Given the description of an element on the screen output the (x, y) to click on. 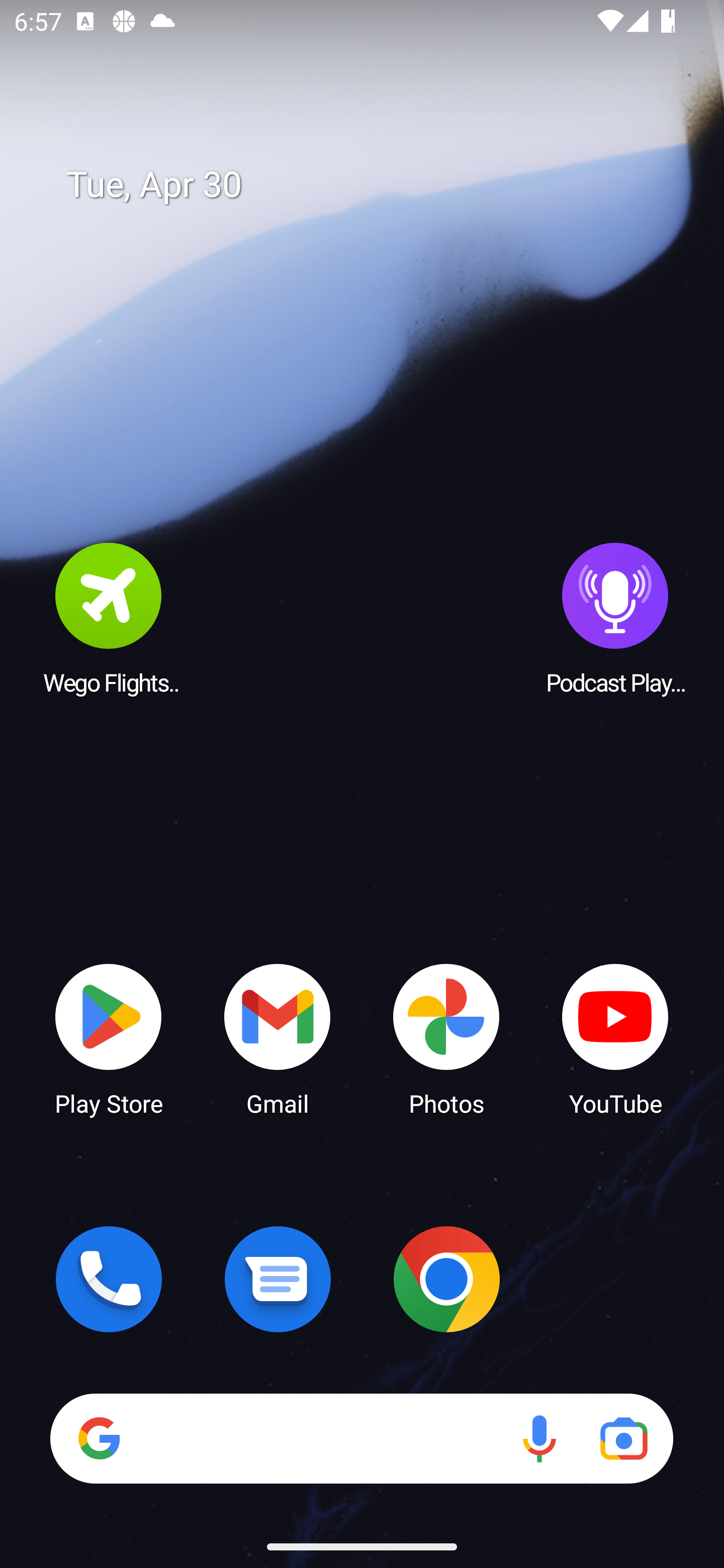
Tue, Apr 30 (375, 184)
Wego Flights & Hotels (108, 617)
Podcast Player (615, 617)
Play Store (108, 1038)
Gmail (277, 1038)
Photos (445, 1038)
YouTube (615, 1038)
Phone (108, 1279)
Messages (277, 1279)
Chrome (446, 1279)
Voice search (539, 1438)
Google Lens (623, 1438)
